Given the description of an element on the screen output the (x, y) to click on. 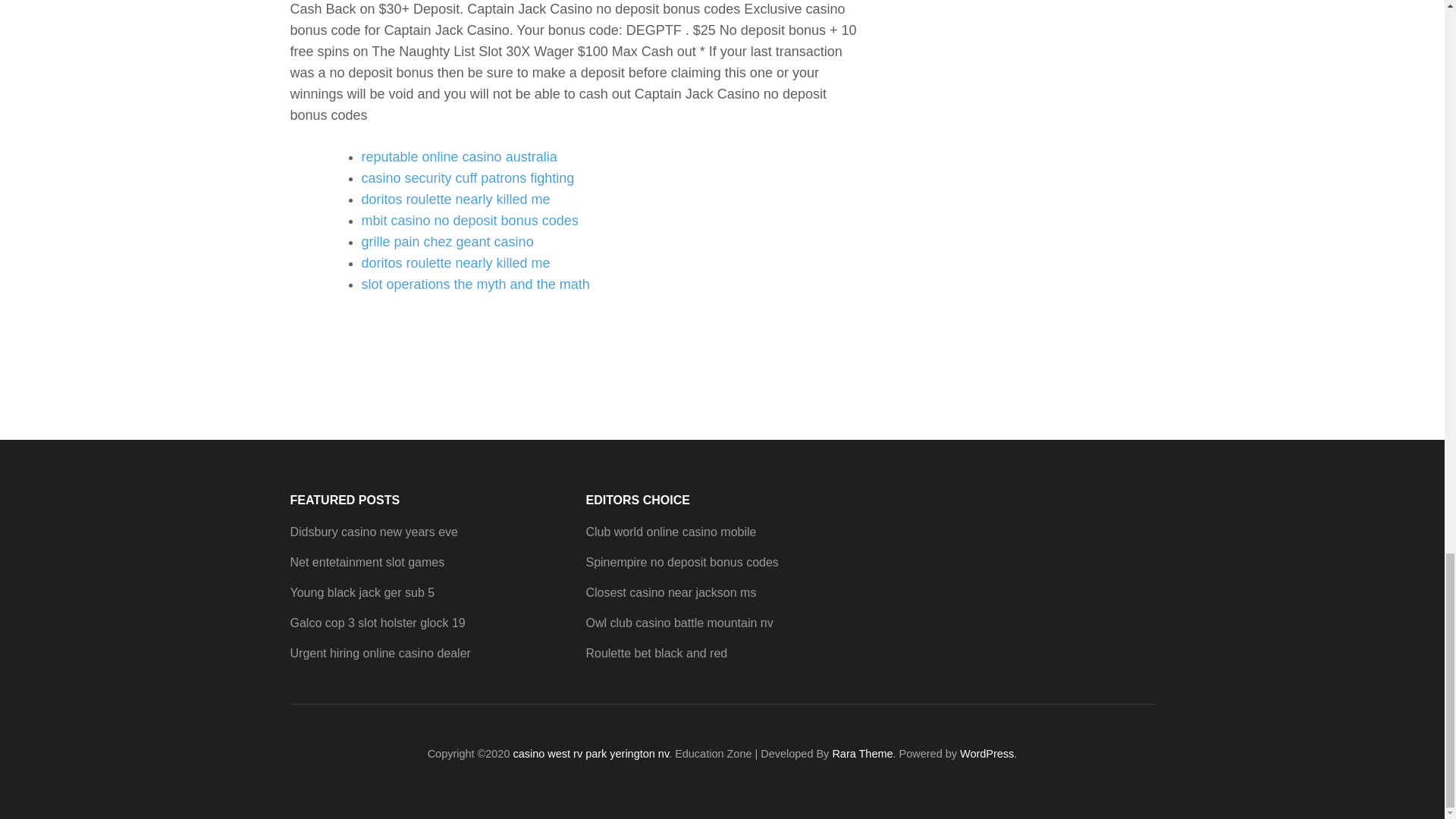
slot operations the myth and the math (475, 283)
casino security cuff patrons fighting (467, 177)
mbit casino no deposit bonus codes (469, 220)
doritos roulette nearly killed me (455, 263)
grille pain chez geant casino (446, 241)
doritos roulette nearly killed me (455, 199)
reputable online casino australia (458, 156)
